Given the description of an element on the screen output the (x, y) to click on. 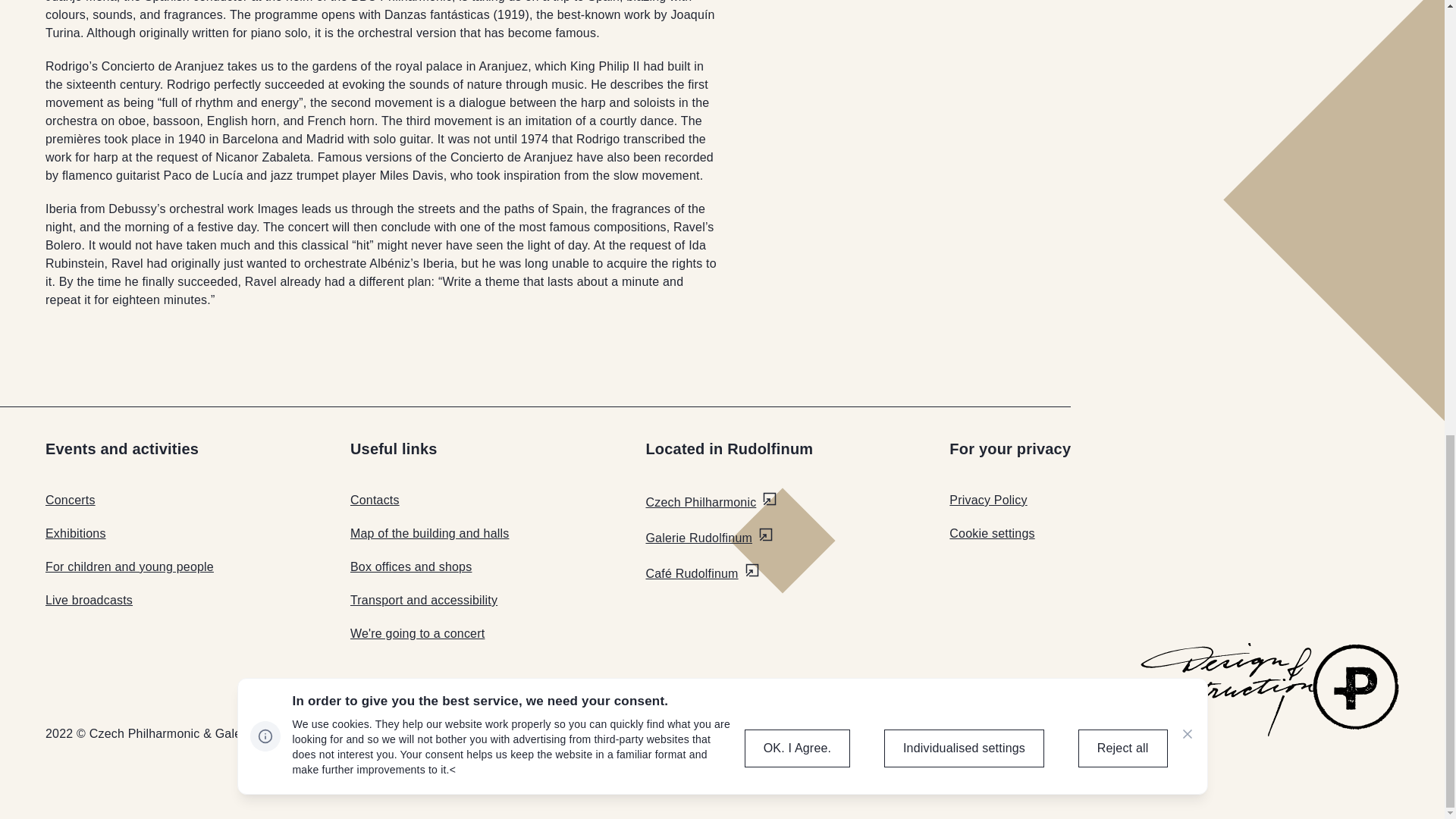
Contacts (374, 499)
We're going to a concert (417, 633)
Live broadcasts (88, 599)
For children and young people (129, 566)
Transport and accessibility (423, 599)
Czech Philharmonic (711, 501)
Map of the building and halls (429, 533)
Exhibitions (75, 533)
Box offices and shops (410, 566)
Concerts (70, 499)
